Given the description of an element on the screen output the (x, y) to click on. 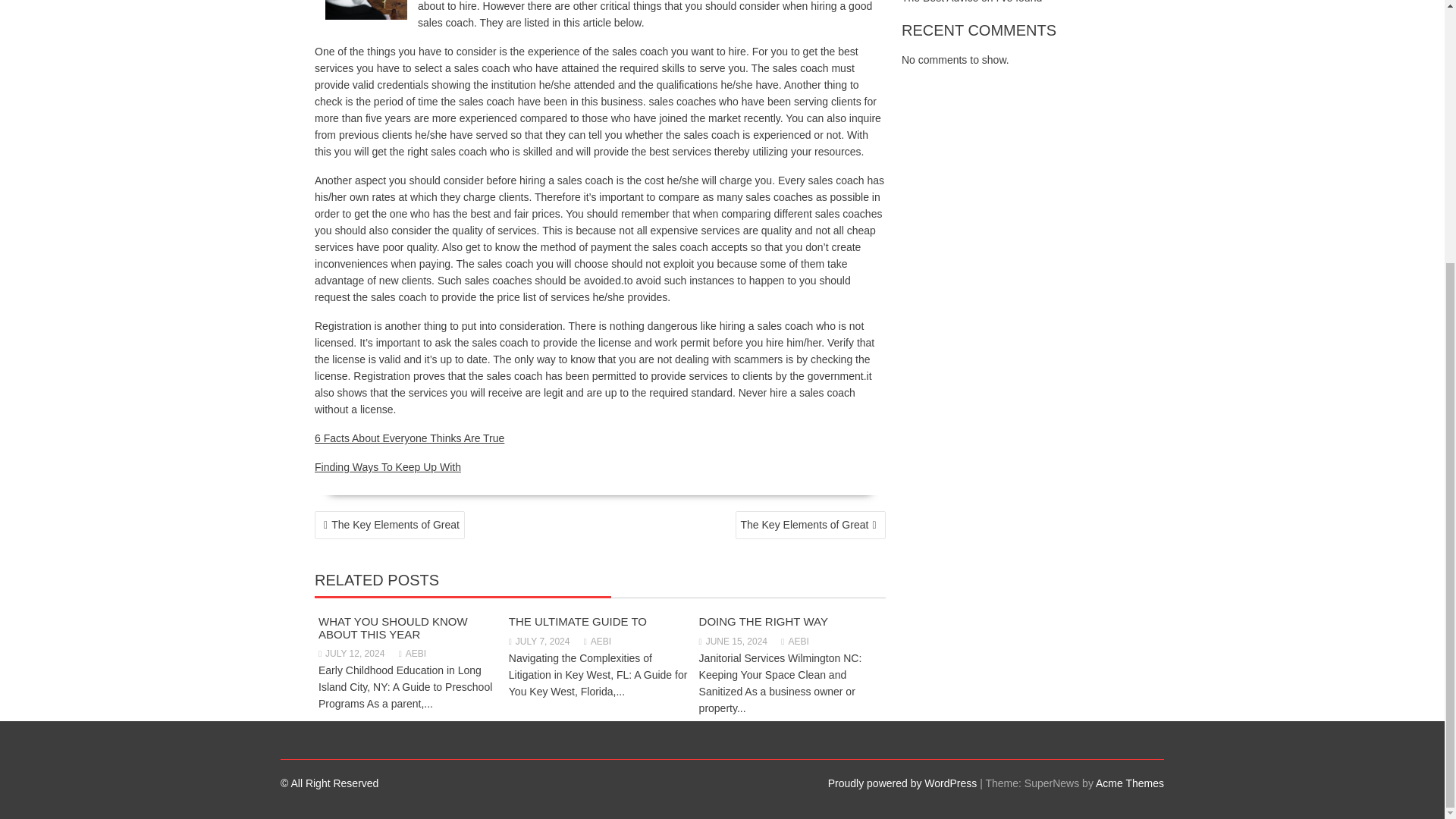
Acme Themes (1129, 783)
JUNE 15, 2024 (732, 641)
WHAT YOU SHOULD KNOW ABOUT THIS YEAR (392, 627)
The Key Elements of Great (389, 524)
THE ULTIMATE GUIDE TO (577, 621)
6 Facts About Everyone Thinks Are True (408, 438)
AEBI (597, 641)
AEBI (794, 641)
AEBI (412, 653)
Finding Ways To Keep Up With (387, 467)
Proudly powered by WordPress (902, 783)
DOING THE RIGHT WAY (763, 621)
JULY 7, 2024 (539, 641)
JULY 12, 2024 (351, 653)
The Key Elements of Great (810, 524)
